Given the description of an element on the screen output the (x, y) to click on. 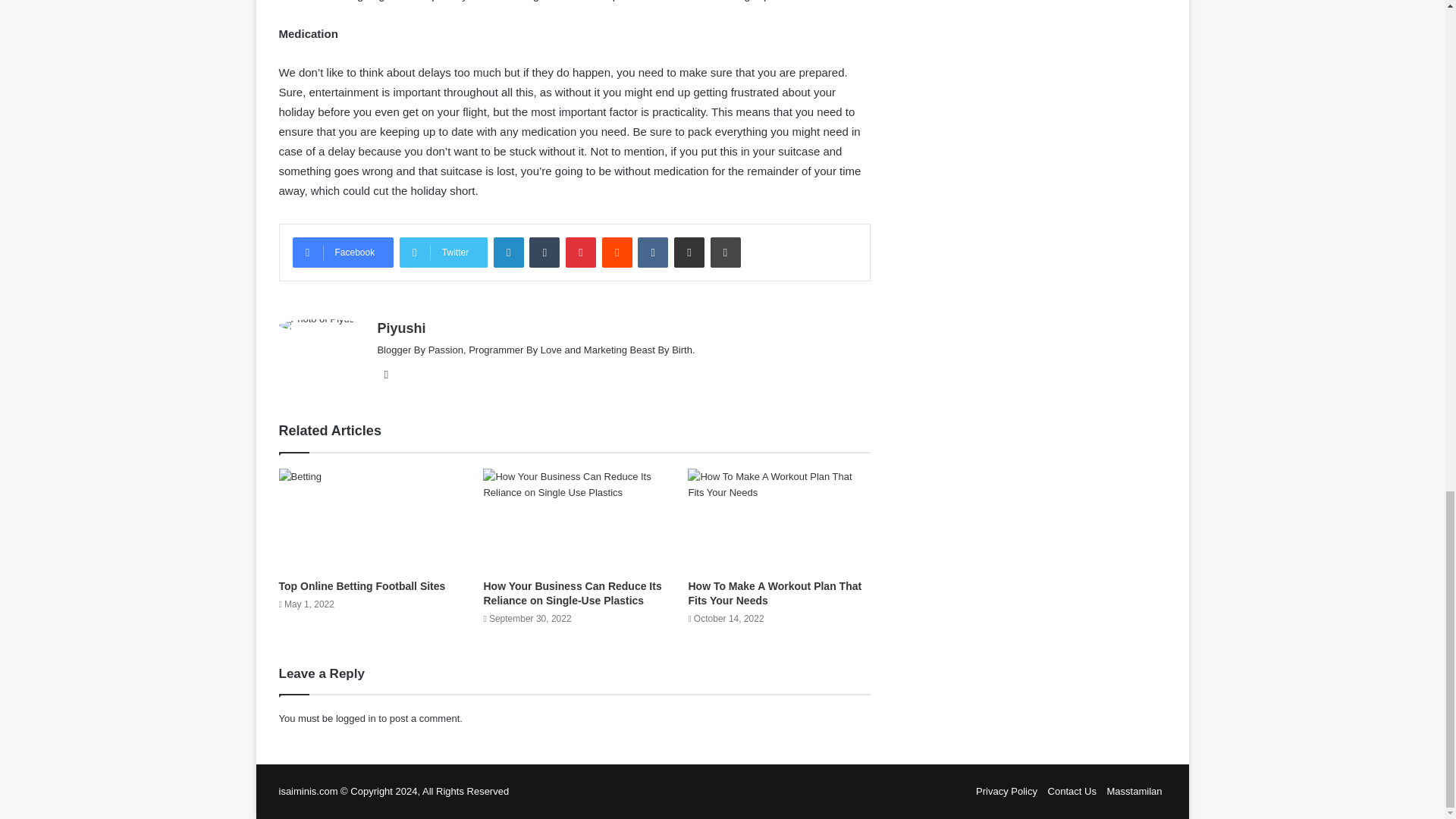
LinkedIn (508, 252)
Twitter (442, 252)
VKontakte (652, 252)
Share via Email (689, 252)
VKontakte (652, 252)
Tumblr (544, 252)
Share via Email (689, 252)
Pinterest (580, 252)
LinkedIn (508, 252)
Twitter (442, 252)
